Given the description of an element on the screen output the (x, y) to click on. 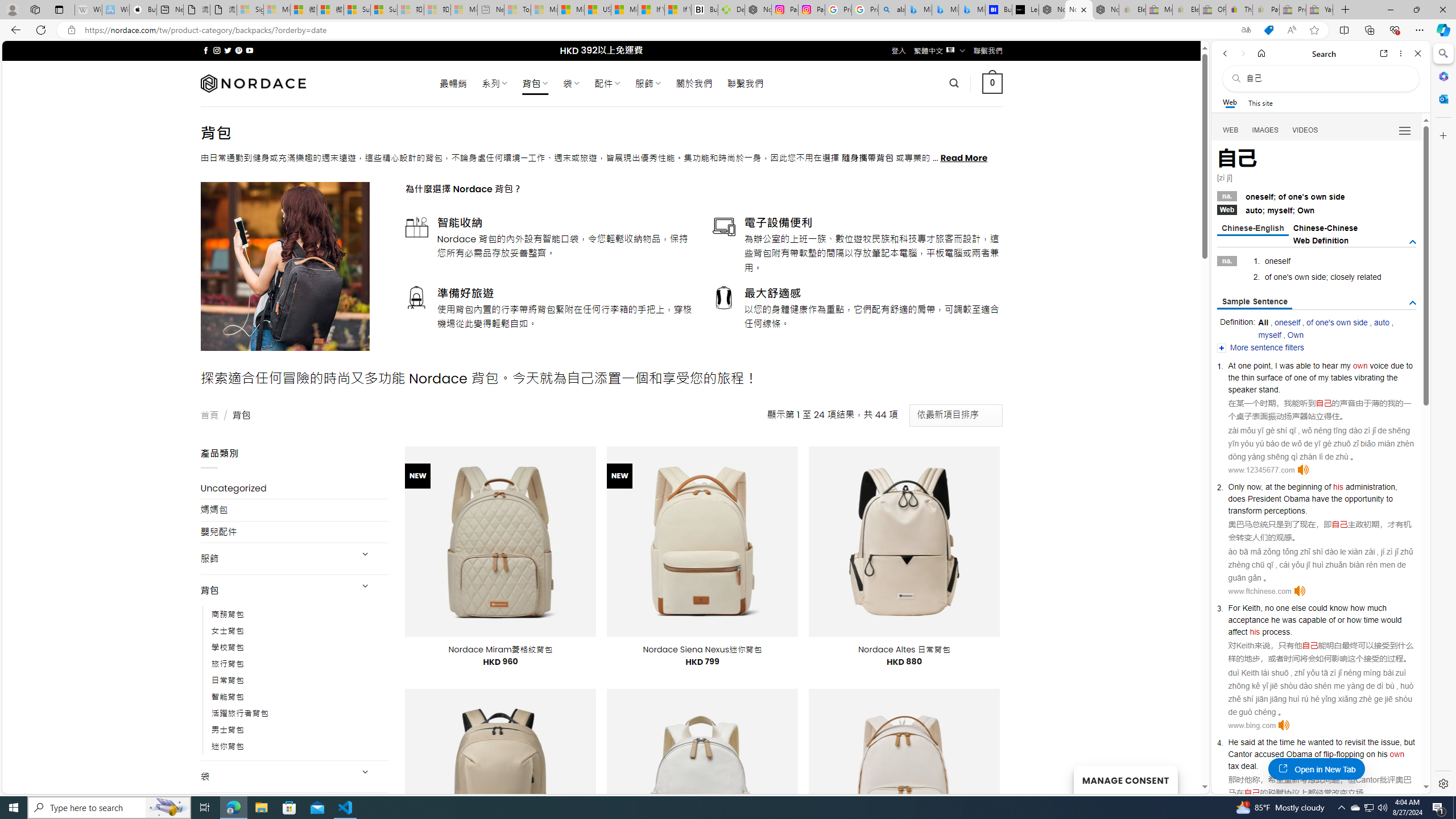
transform (1244, 510)
Read More (964, 157)
Chinese-English (1252, 228)
